Given the description of an element on the screen output the (x, y) to click on. 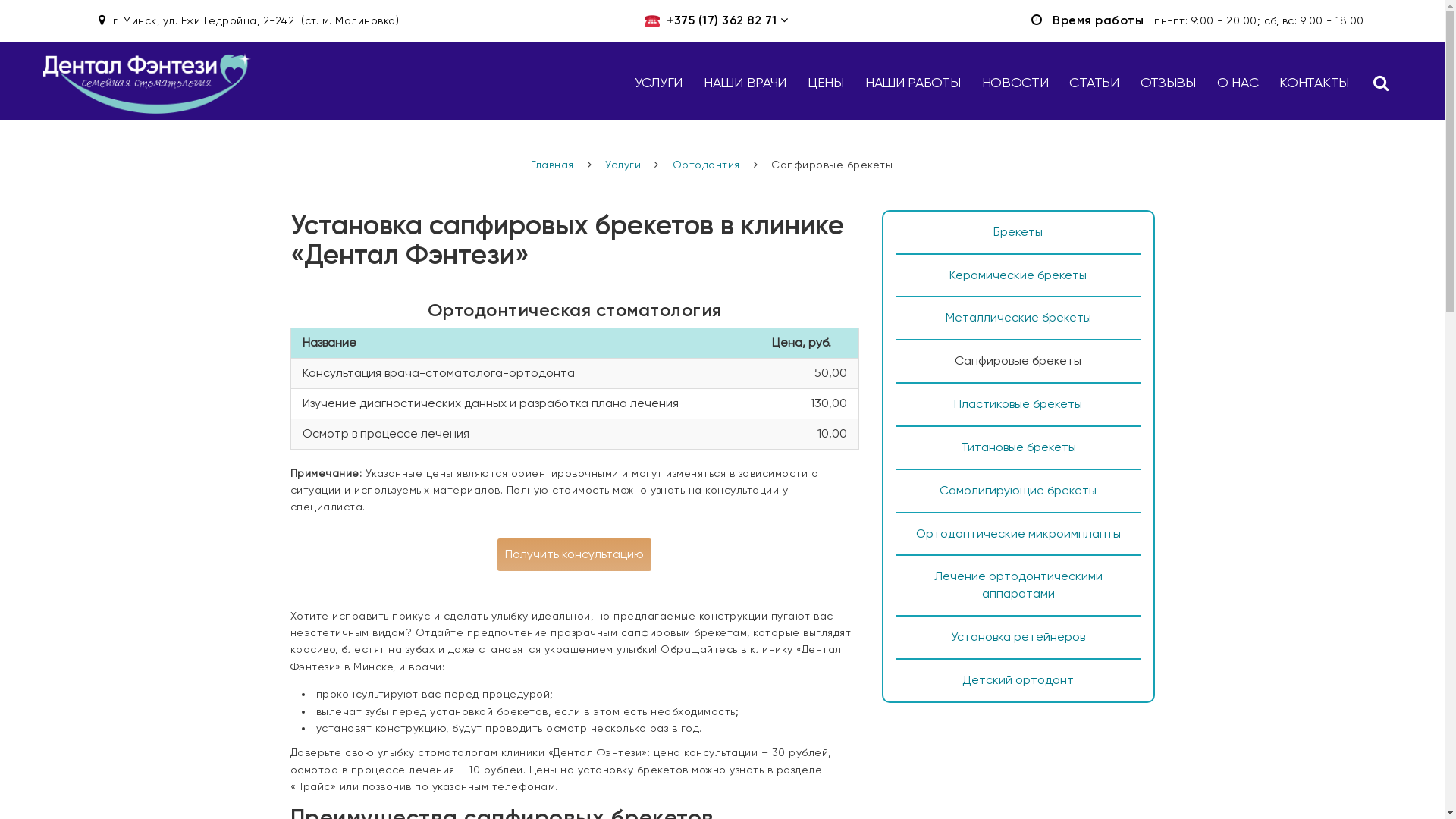
+375 (17) 362 82 71 Element type: text (721, 19)
